Given the description of an element on the screen output the (x, y) to click on. 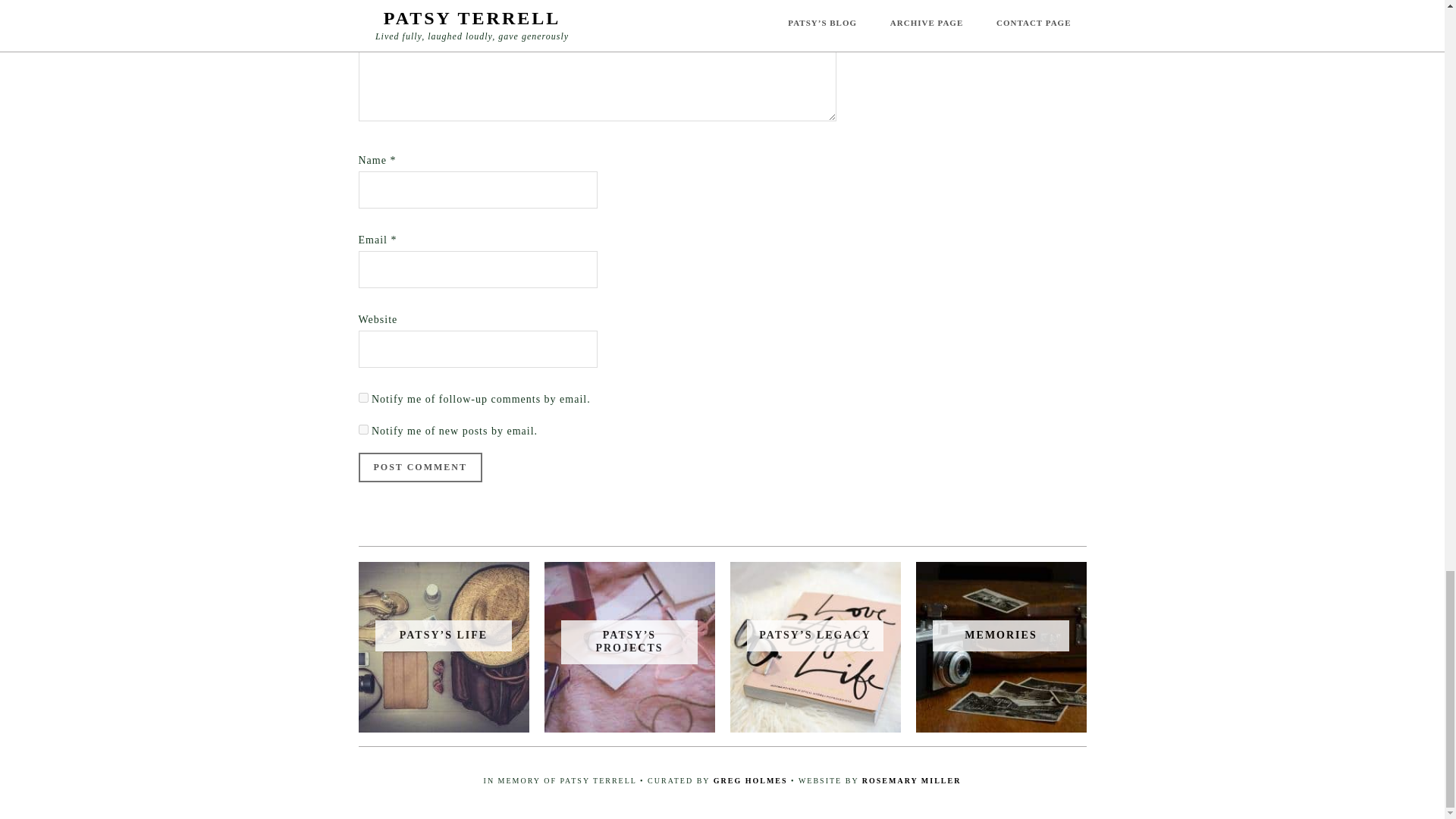
subscribe (363, 397)
subscribe (363, 429)
MEMORIES (999, 634)
ROSEMARY MILLER (910, 780)
GREG HOLMES (750, 780)
Post Comment (419, 467)
Post Comment (419, 467)
